Given the description of an element on the screen output the (x, y) to click on. 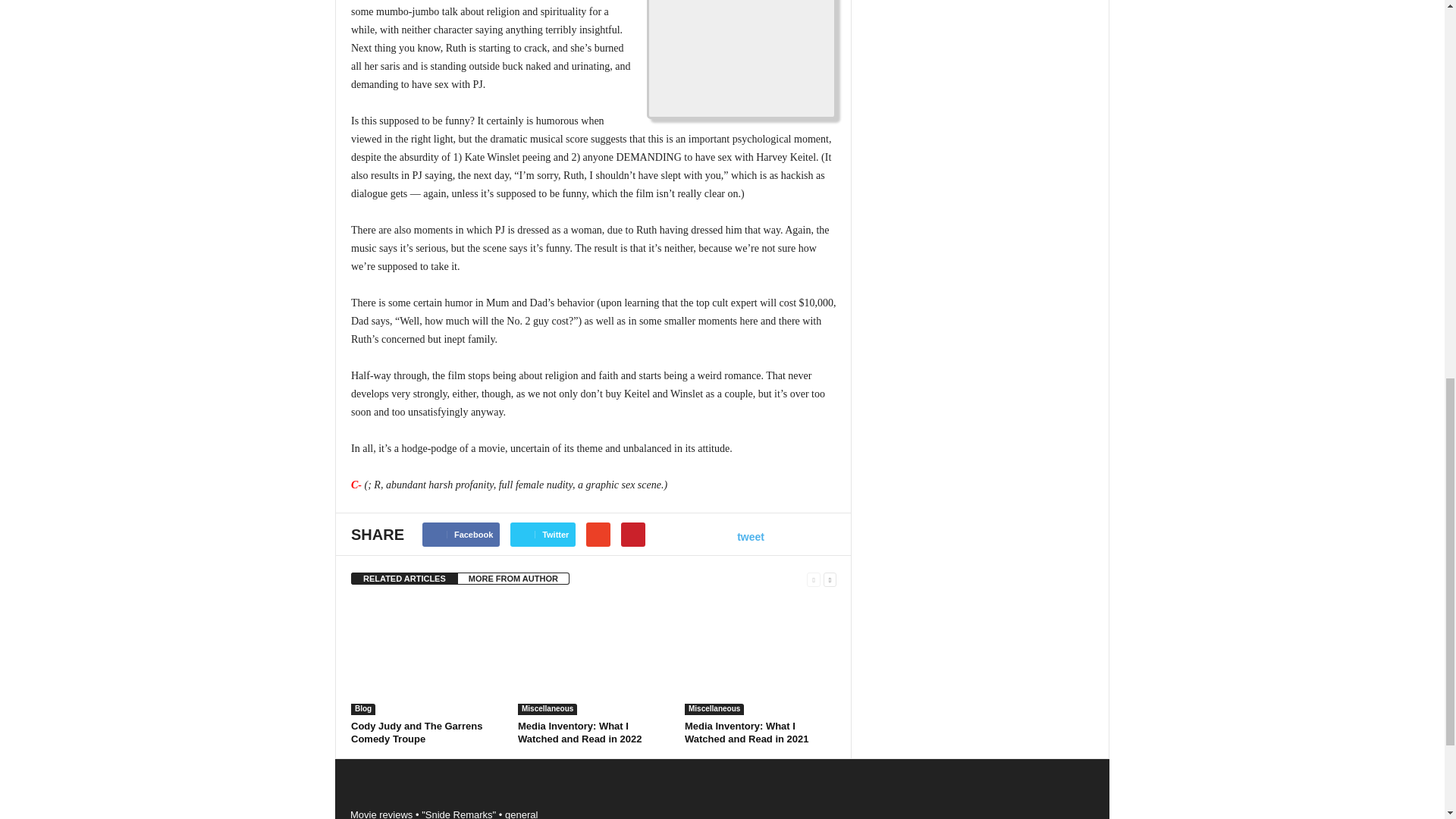
Cody Judy and The Garrens Comedy Troupe (426, 657)
Cody Judy and The Garrens Comedy Troupe (415, 732)
Media Inventory: What I Watched and Read in 2022 (593, 657)
Media Inventory: What I Watched and Read in 2021 (759, 657)
Media Inventory: What I Watched and Read in 2021 (746, 732)
Media Inventory: What I Watched and Read in 2022 (580, 732)
